Given the description of an element on the screen output the (x, y) to click on. 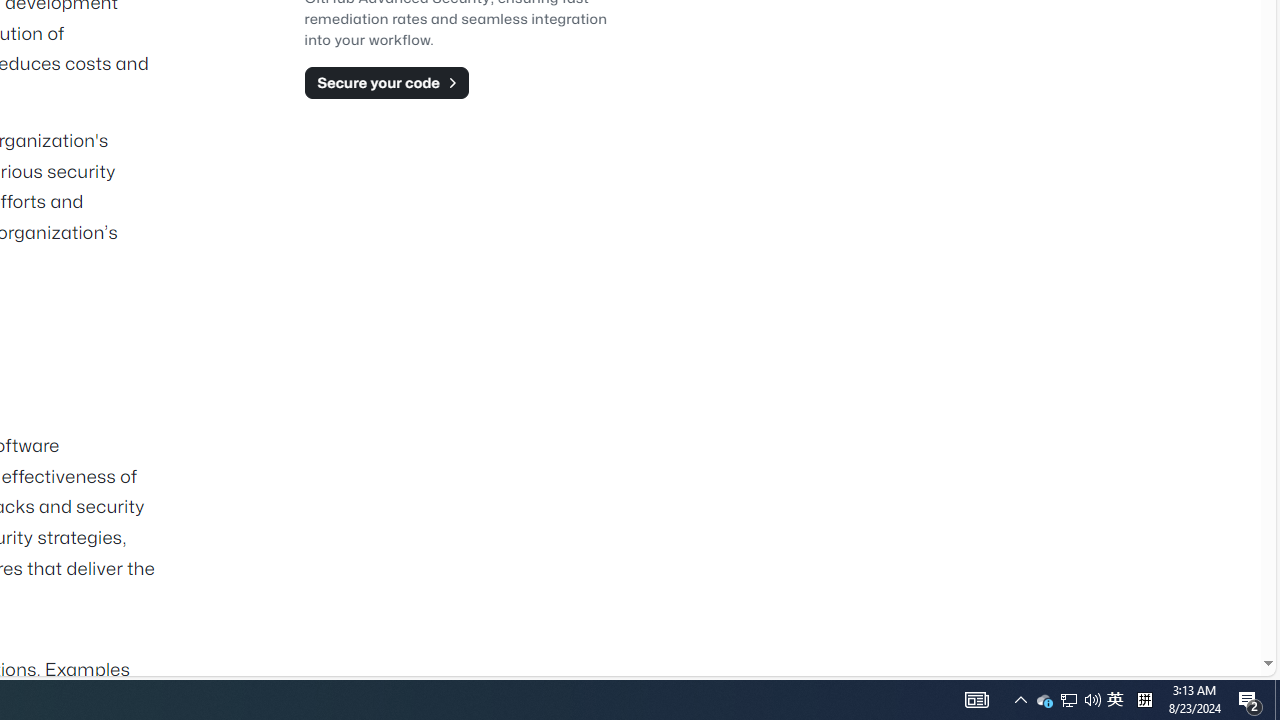
Secure your code (386, 82)
